Given the description of an element on the screen output the (x, y) to click on. 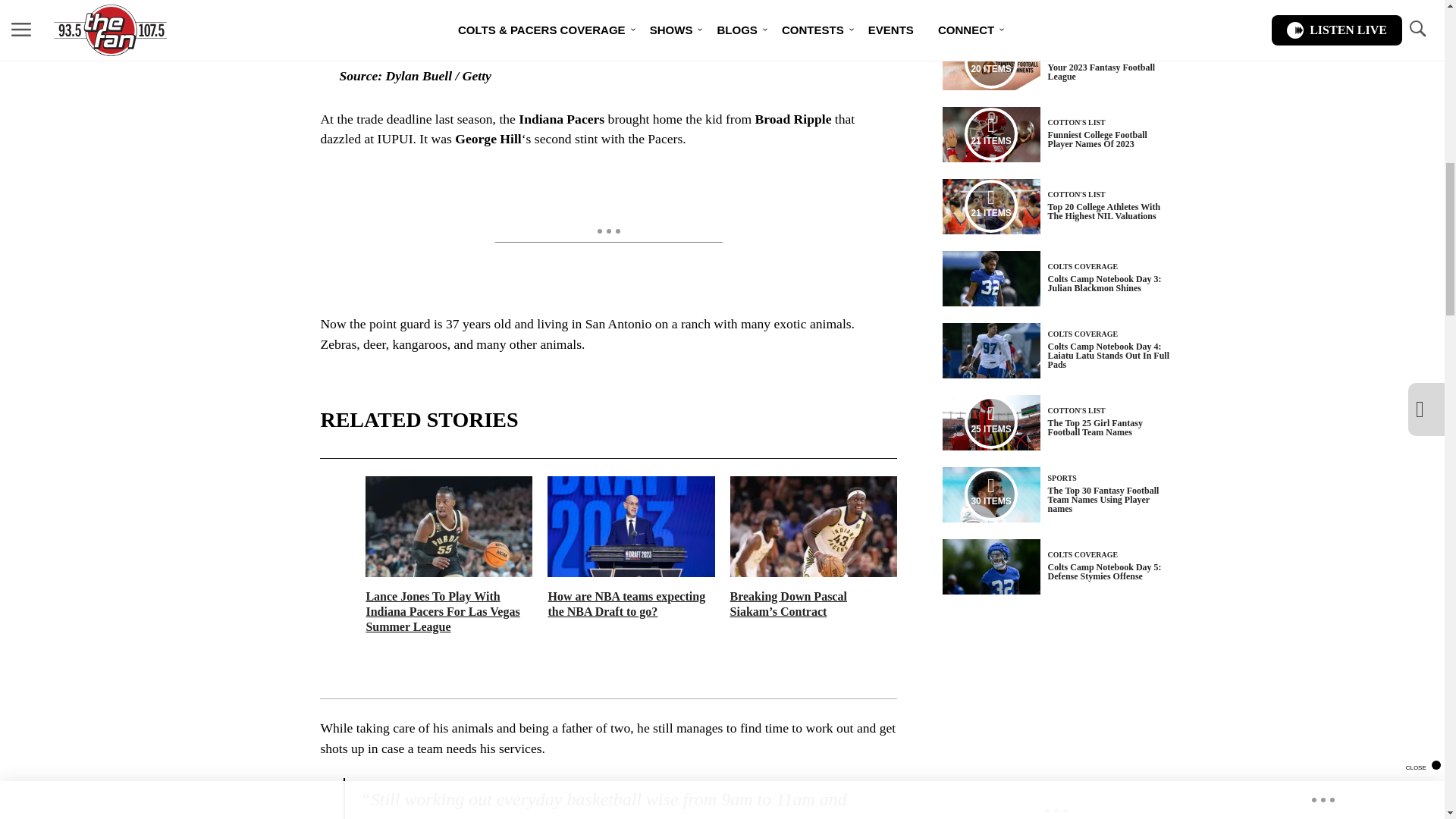
Media Playlist (990, 205)
Media Playlist (990, 421)
Media Playlist (990, 62)
Media Playlist (990, 133)
Media Playlist (990, 493)
